Given the description of an element on the screen output the (x, y) to click on. 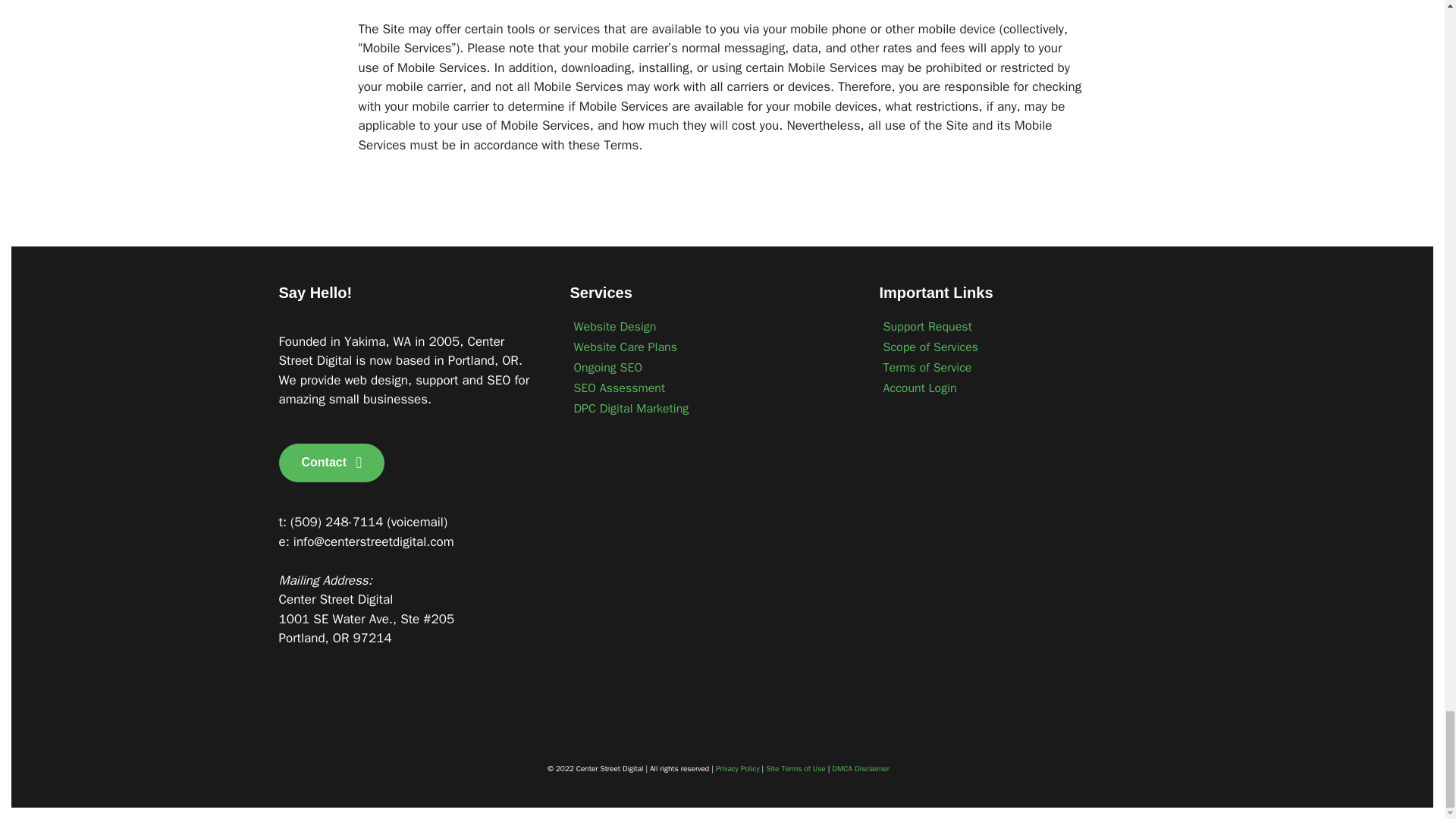
Privacy Policy (738, 768)
DPC Digital Marketing (709, 408)
Ongoing SEO (709, 367)
Scope of Services (1016, 347)
Support Request (1016, 326)
Website Design (709, 326)
Website Care Plans (709, 347)
Terms of Service (1016, 367)
Account Login (1016, 388)
SEO Assessment (709, 388)
Site Terms of Use (795, 768)
Contact (332, 462)
CenterStDigital-06 (362, 718)
DMCA Disclaimer (860, 768)
